Given the description of an element on the screen output the (x, y) to click on. 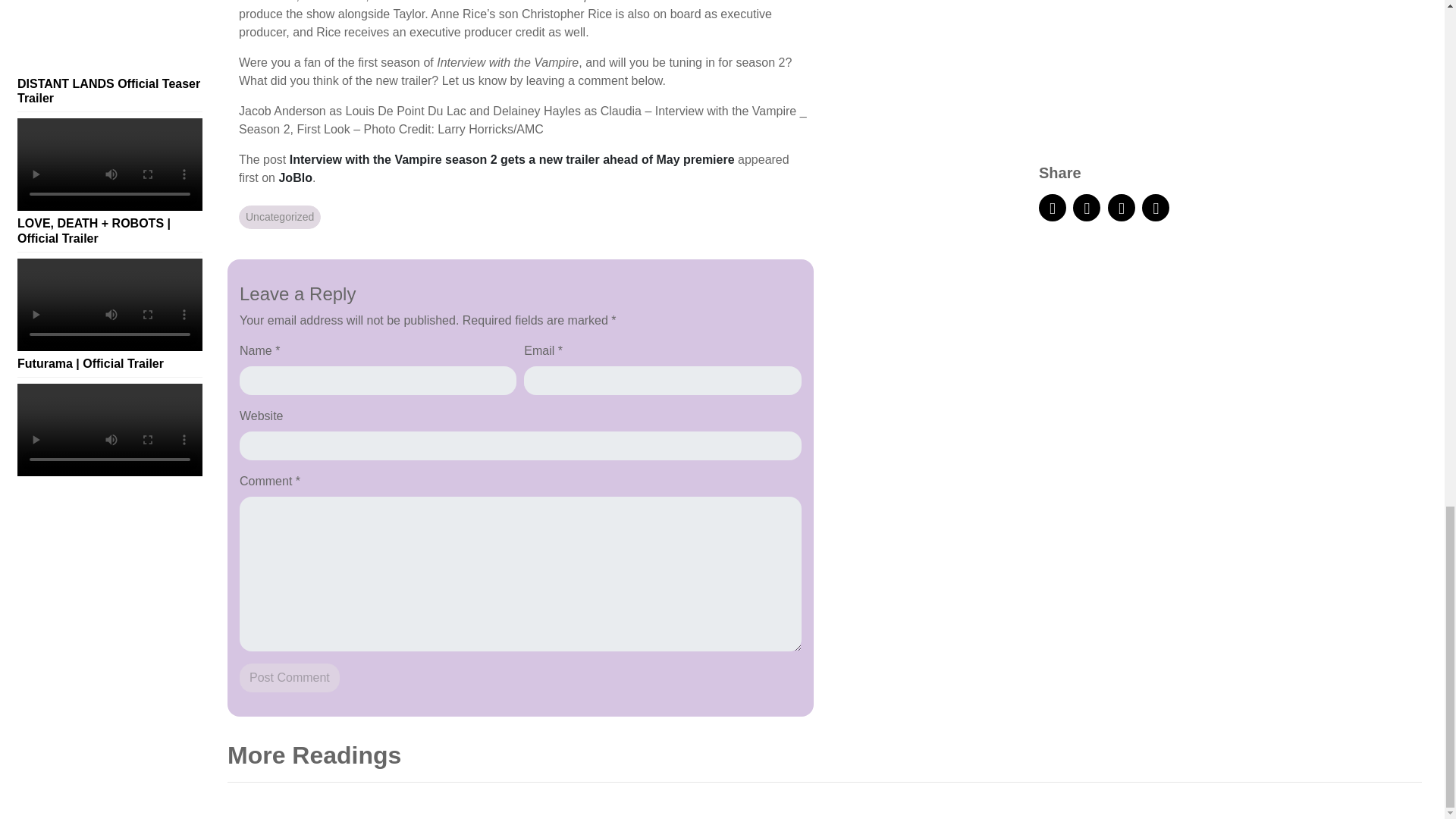
JoBlo (294, 177)
Post Comment (289, 677)
Uncategorized (279, 217)
Post Comment (289, 677)
